Given the description of an element on the screen output the (x, y) to click on. 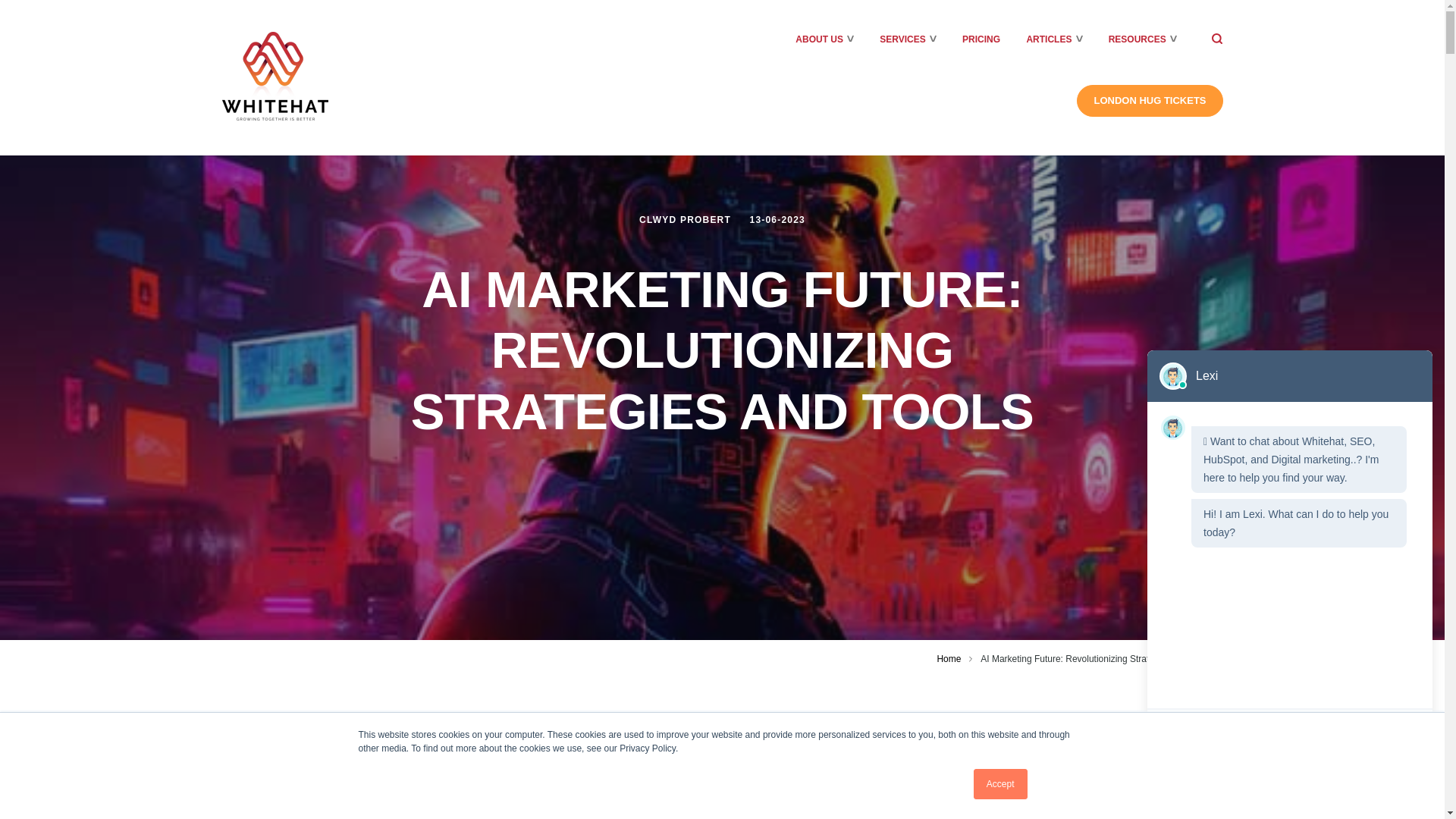
AI (704, 770)
CLWYD PROBERT (686, 219)
RESOURCES (1137, 39)
ARTICLES (1048, 39)
Accept (1000, 784)
whitehat (274, 75)
PRICING (981, 39)
marketers must adapt their strategies (717, 803)
Home (948, 658)
ABOUT US (818, 39)
ML (748, 770)
SERVICES (901, 39)
LONDON HUG TICKETS (1150, 101)
